Given the description of an element on the screen output the (x, y) to click on. 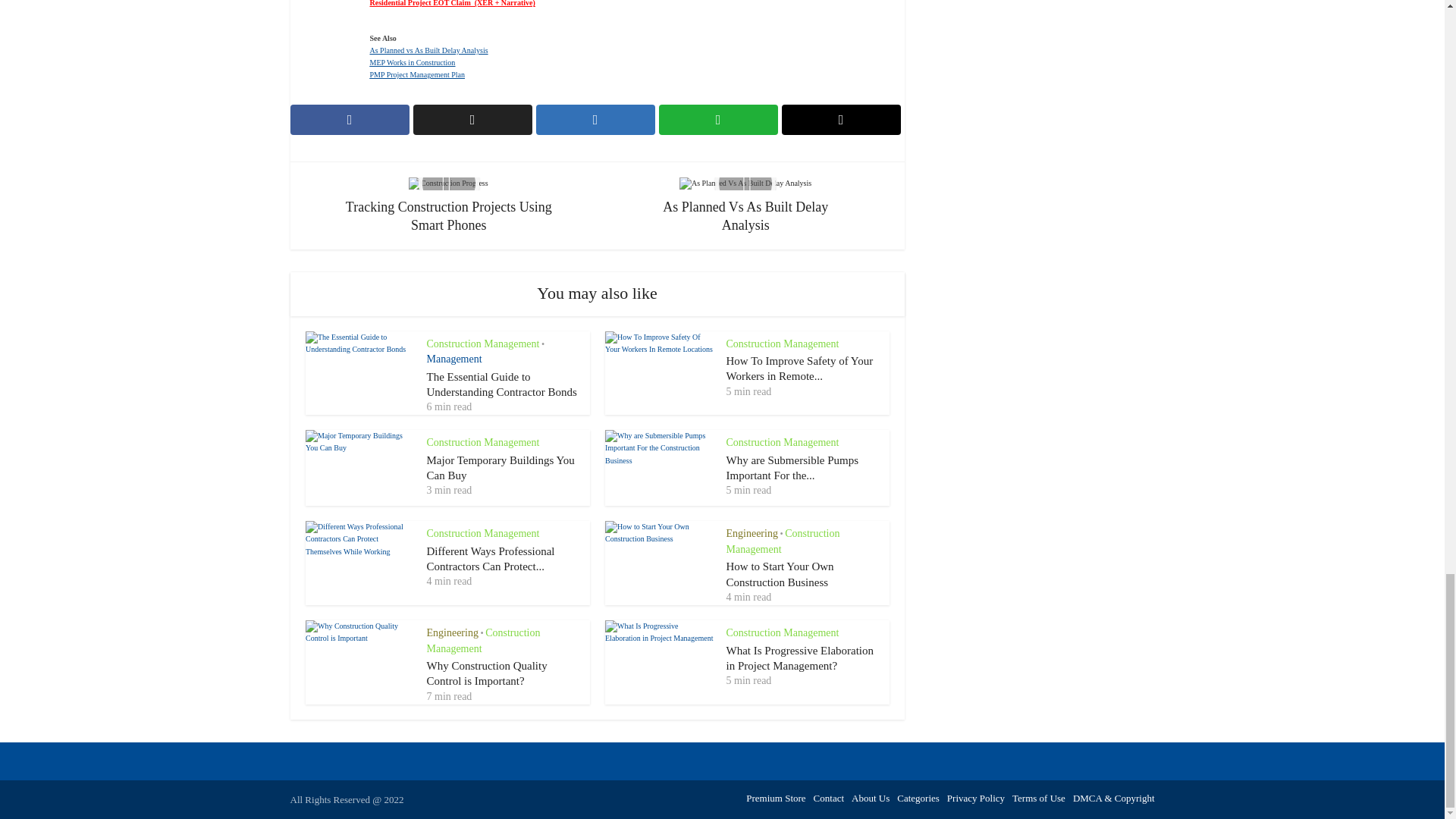
What Is Progressive Elaboration in Project Management? (800, 657)
Major Temporary Buildings You Can Buy (499, 467)
The Essential Guide to Understanding Contractor Bonds (501, 384)
How to Start Your Own Construction Business (780, 574)
Why Construction Quality Control is Important? (486, 673)
How To Improve Safety of Your Workers in Remote Locations (799, 368)
